Given the description of an element on the screen output the (x, y) to click on. 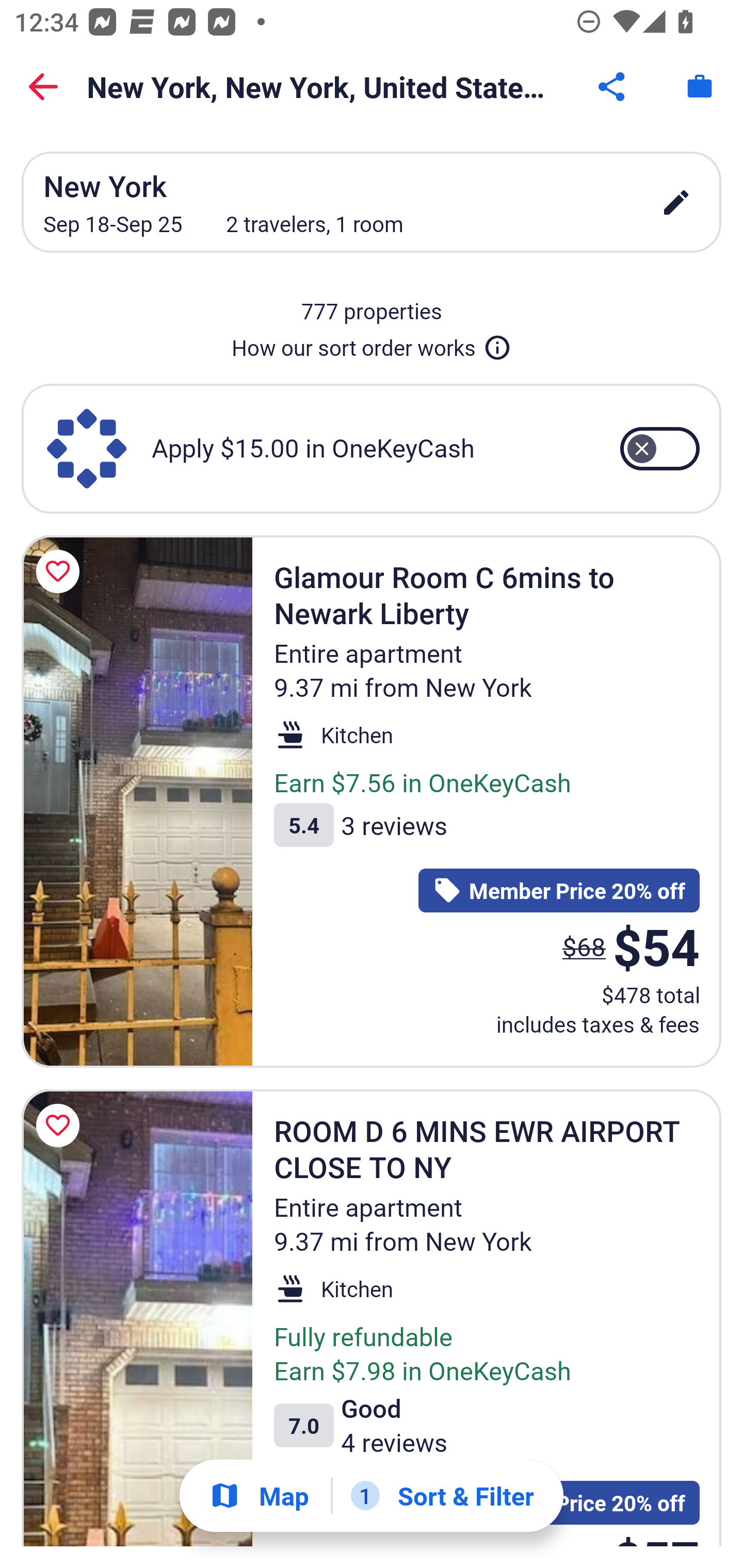
Back (43, 86)
Share Button (612, 86)
Trips. Button (699, 86)
New York Sep 18-Sep 25 2 travelers, 1 room edit (371, 202)
How our sort order works (371, 344)
Glamour Room C 6mins to Newark Liberty (136, 800)
$68 The price was $68 (583, 946)
ROOM D 6 MINS EWR AIRPORT CLOSE TO NY (136, 1317)
1 Sort & Filter 1 Filter applied. Filters Button (442, 1495)
Show map Map Show map Button (258, 1495)
